Given the description of an element on the screen output the (x, y) to click on. 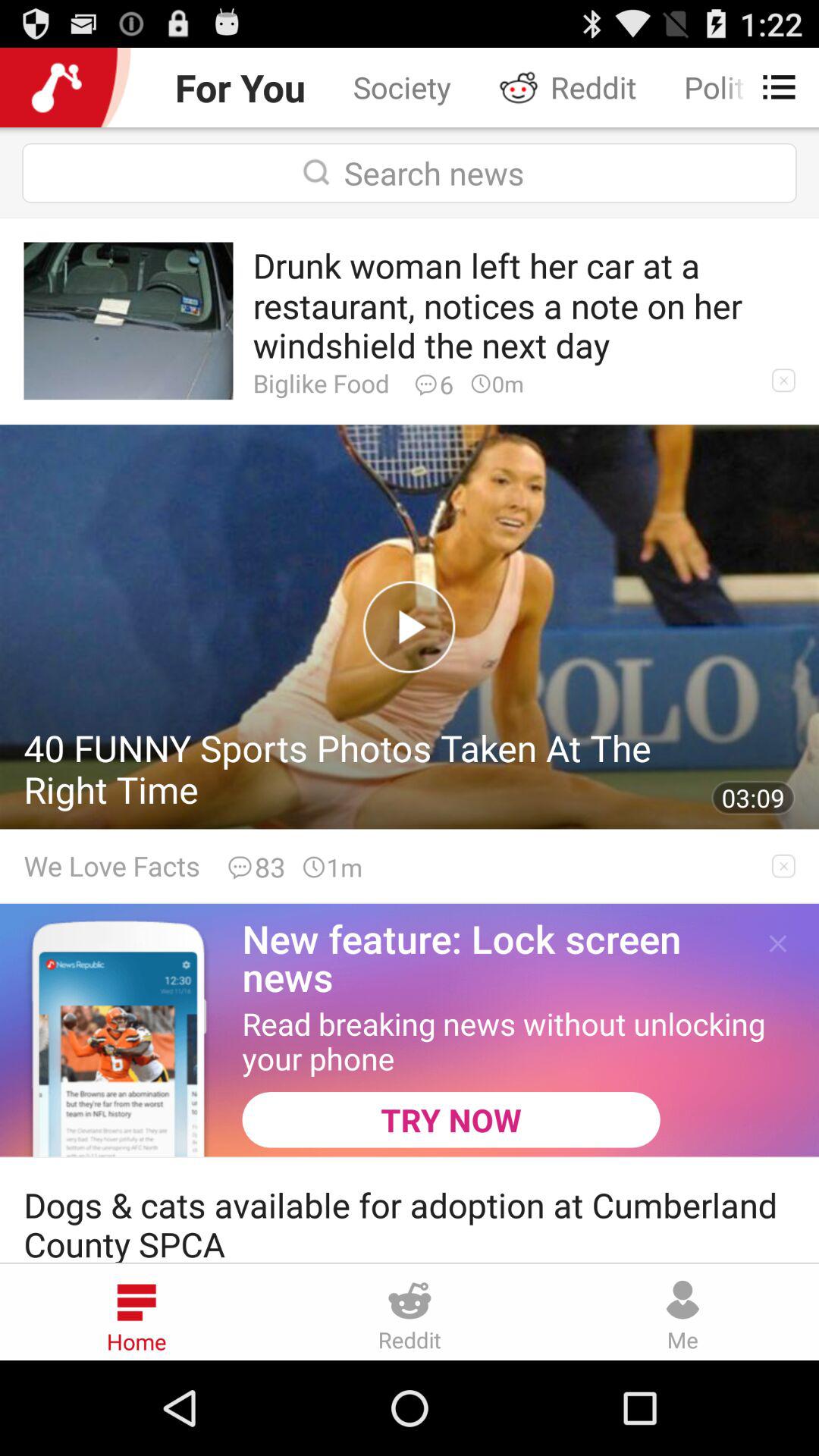
press the for you app (240, 87)
